Given the description of an element on the screen output the (x, y) to click on. 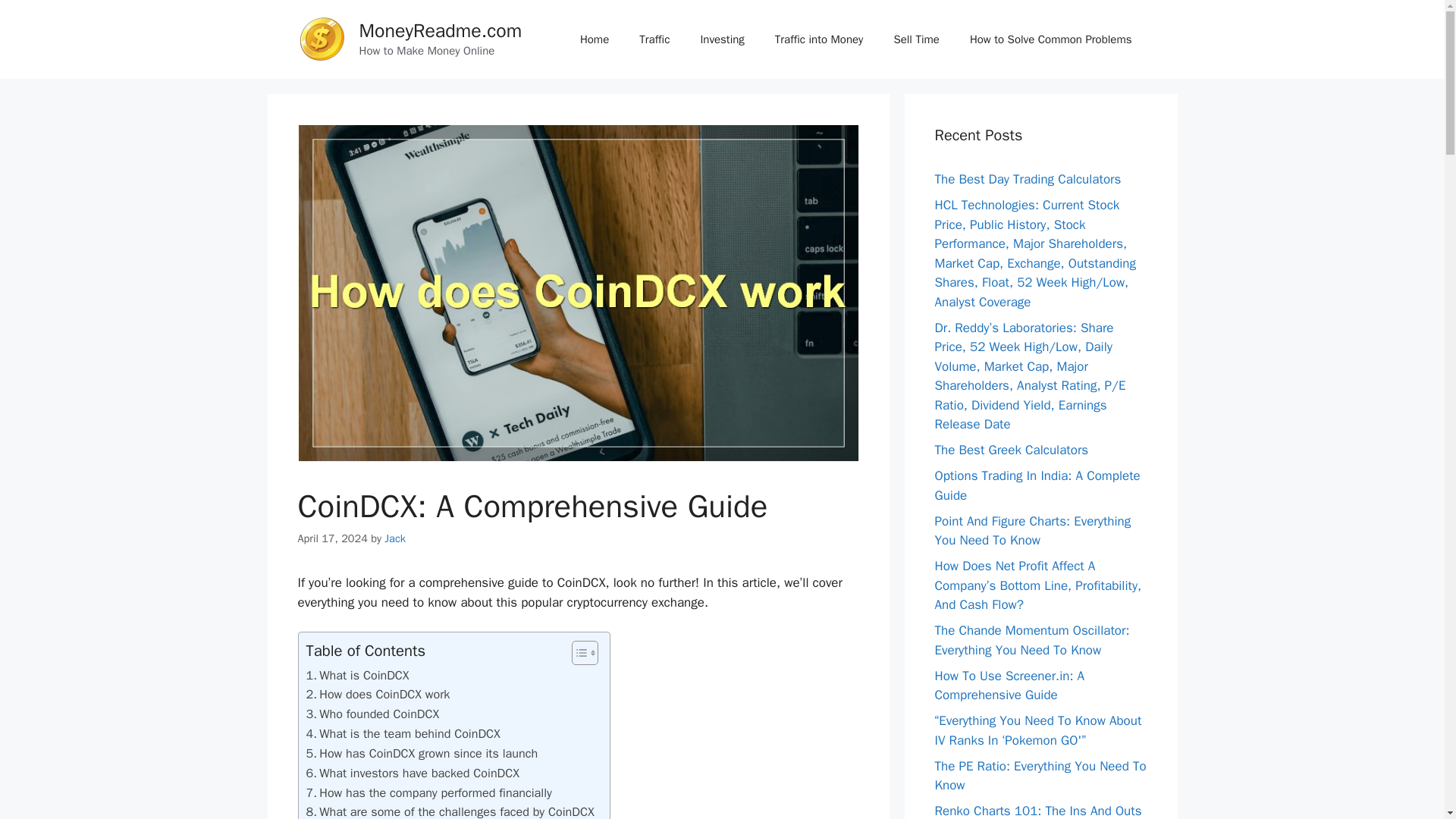
How to Solve Common Problems (1051, 39)
MoneyReadme.com (440, 30)
The PE Ratio: Everything You Need To Know (1039, 775)
Home (594, 39)
Investing (721, 39)
Traffic (654, 39)
The Chande Momentum Oscillator: Everything You Need To Know (1031, 640)
Sell Time (916, 39)
What are some of the challenges faced by CoinDCX (449, 810)
How does CoinDCX work (377, 694)
